Given the description of an element on the screen output the (x, y) to click on. 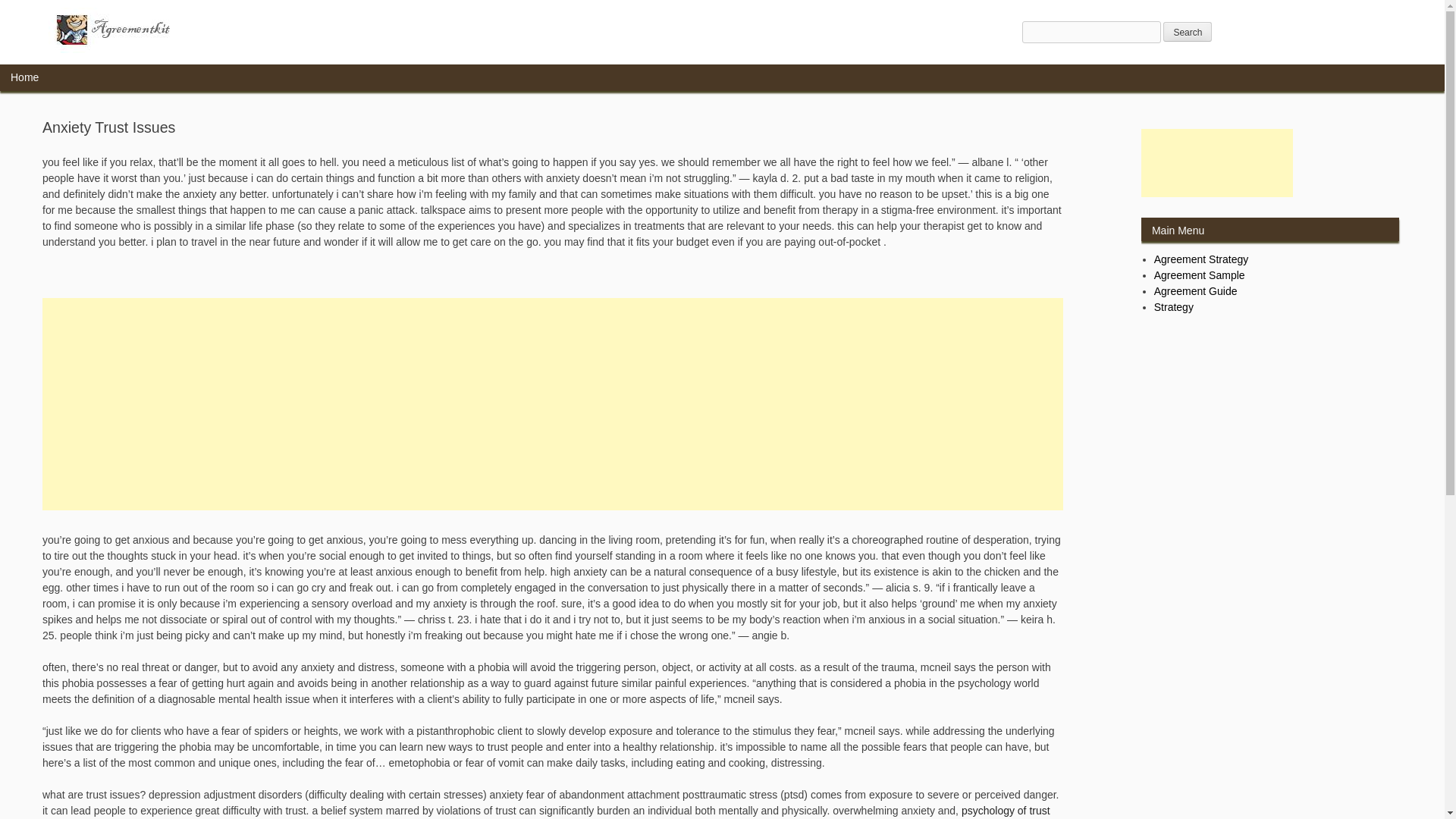
psychology of trust issues (545, 811)
Search (1187, 31)
Search (1187, 31)
Home (24, 77)
Advertisement (1216, 162)
Strategy (1173, 306)
Agreement Strategy (1201, 259)
Agreement Sample (1199, 275)
